Given the description of an element on the screen output the (x, y) to click on. 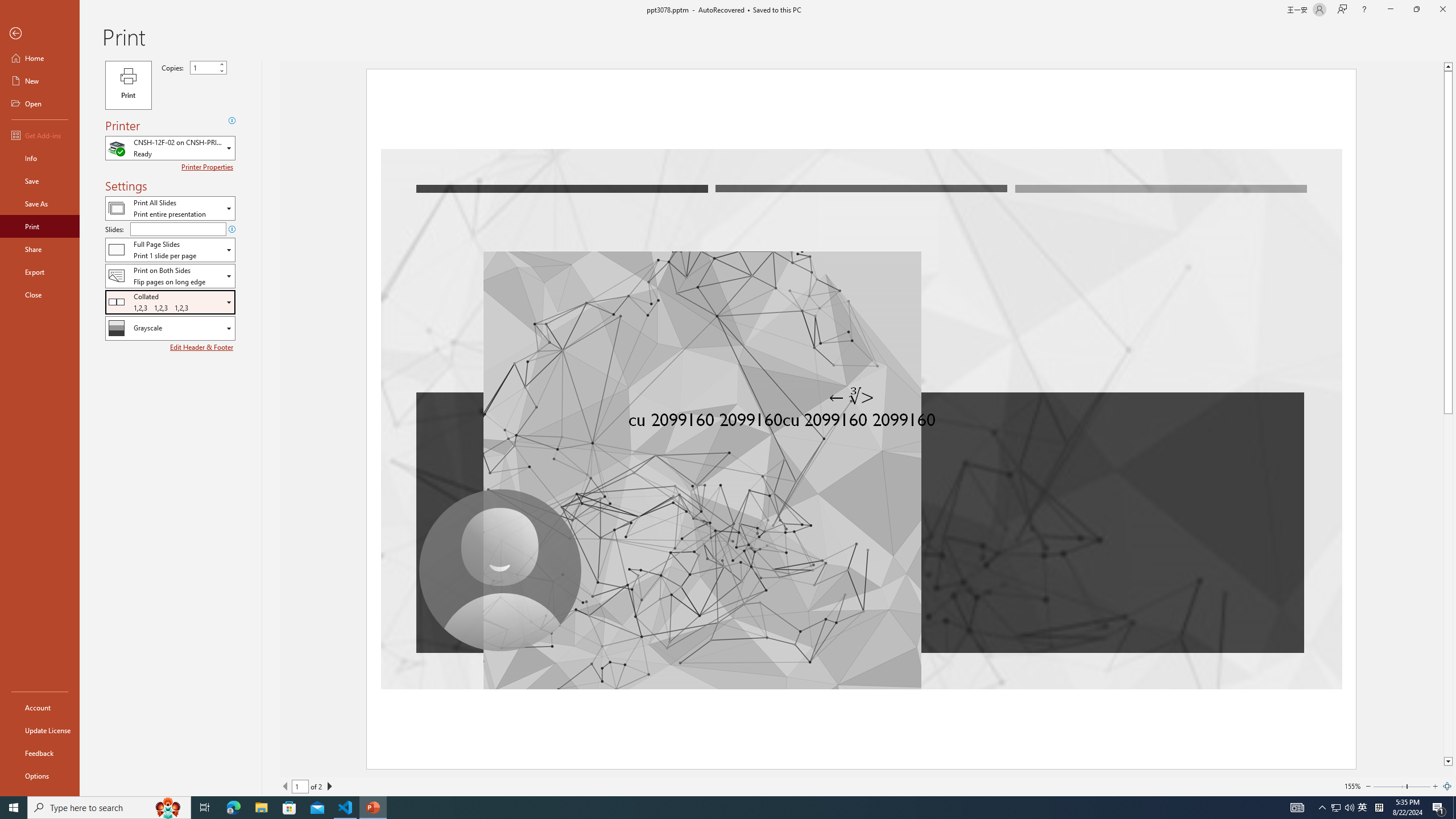
Update License (40, 730)
Slides (178, 228)
Options (40, 775)
Page left (1389, 786)
Color/Grayscale (169, 328)
Copies (208, 67)
Account (40, 707)
Edit Header & Footer (202, 347)
155% (1352, 785)
